Given the description of an element on the screen output the (x, y) to click on. 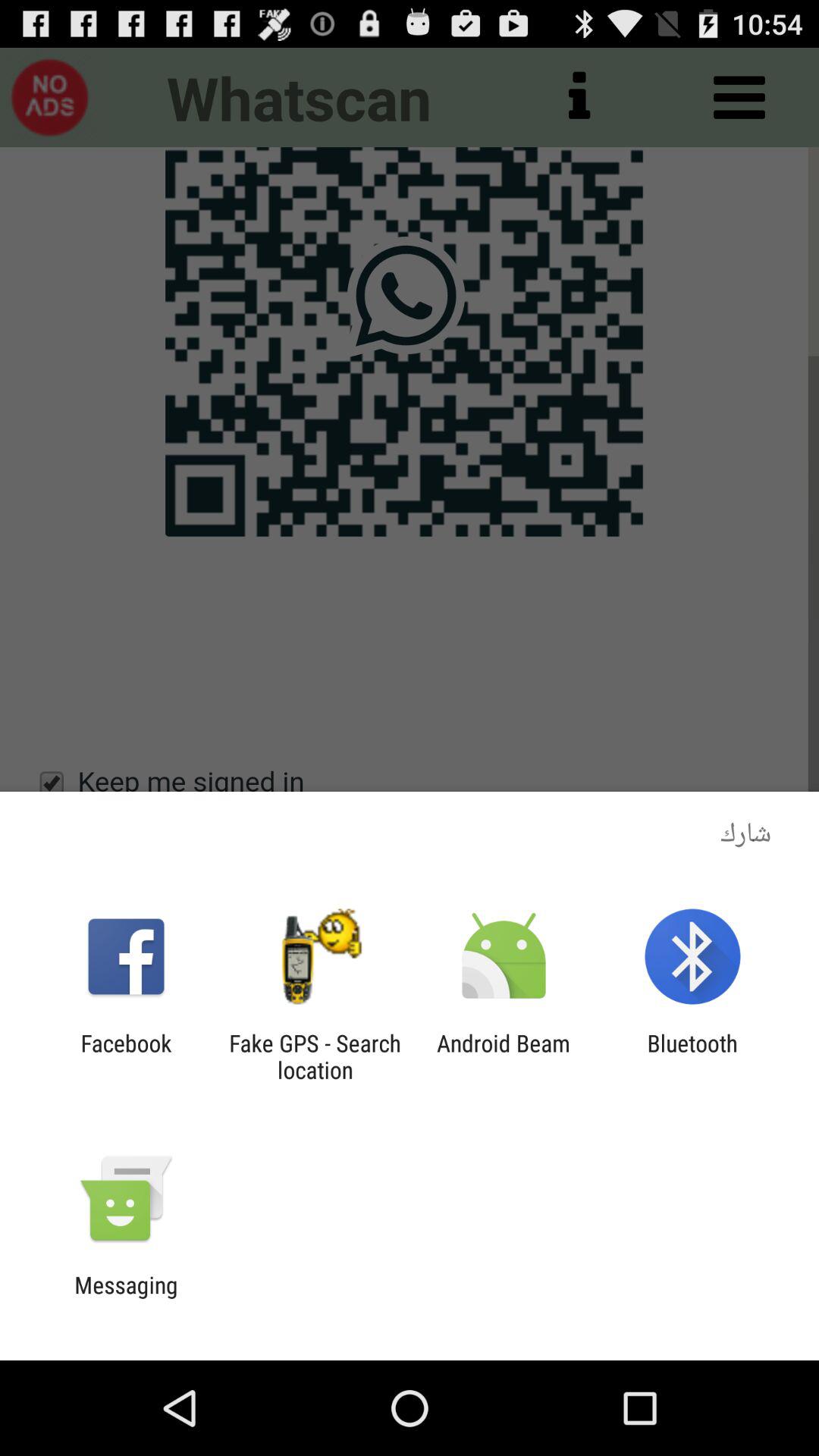
open app next to the facebook item (314, 1056)
